Given the description of an element on the screen output the (x, y) to click on. 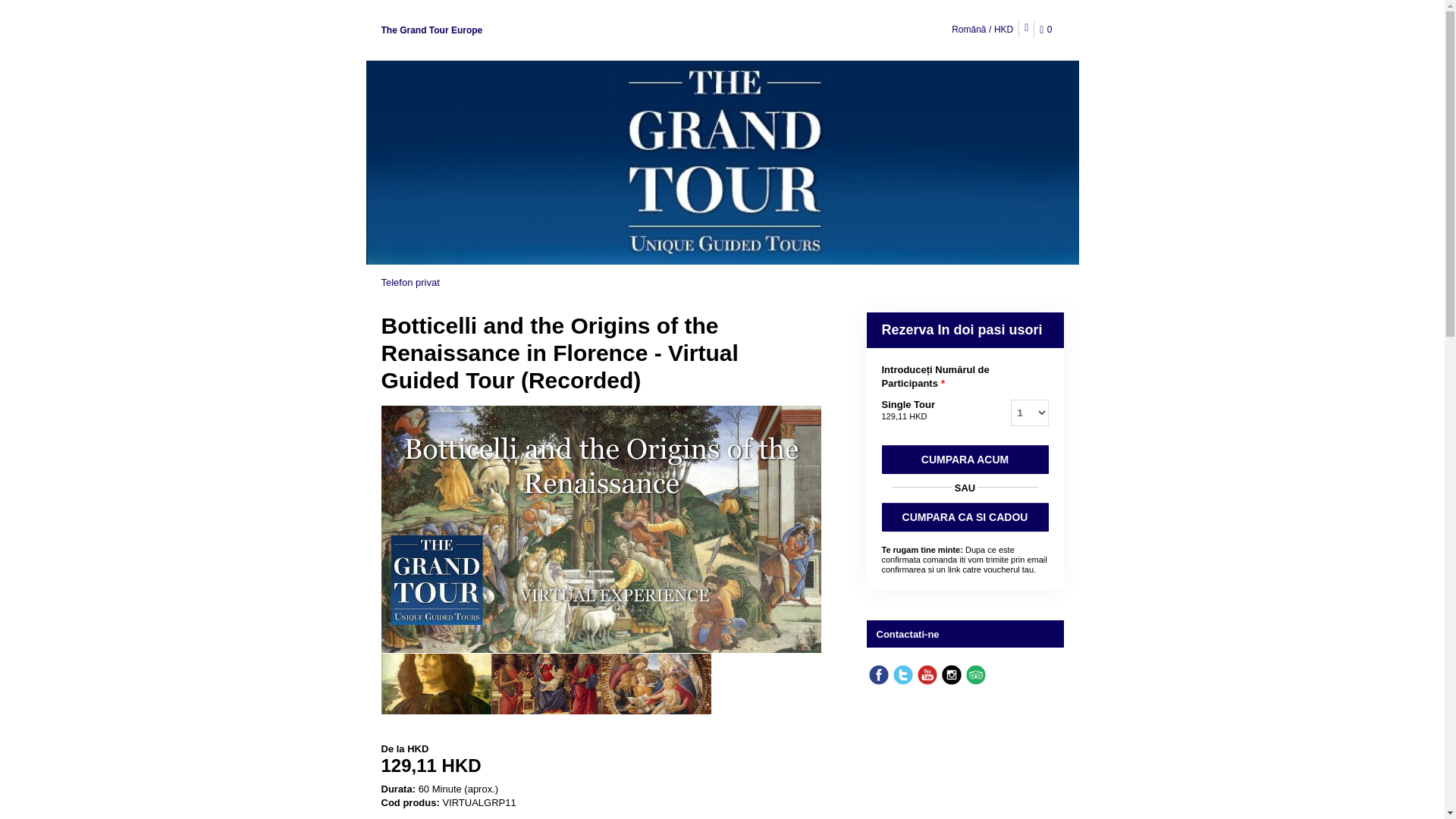
0 (1047, 30)
The Grand Tour Europe (430, 30)
Estimated conversion from 15 (600, 765)
Estimated conversion from 15 (903, 415)
